Given the description of an element on the screen output the (x, y) to click on. 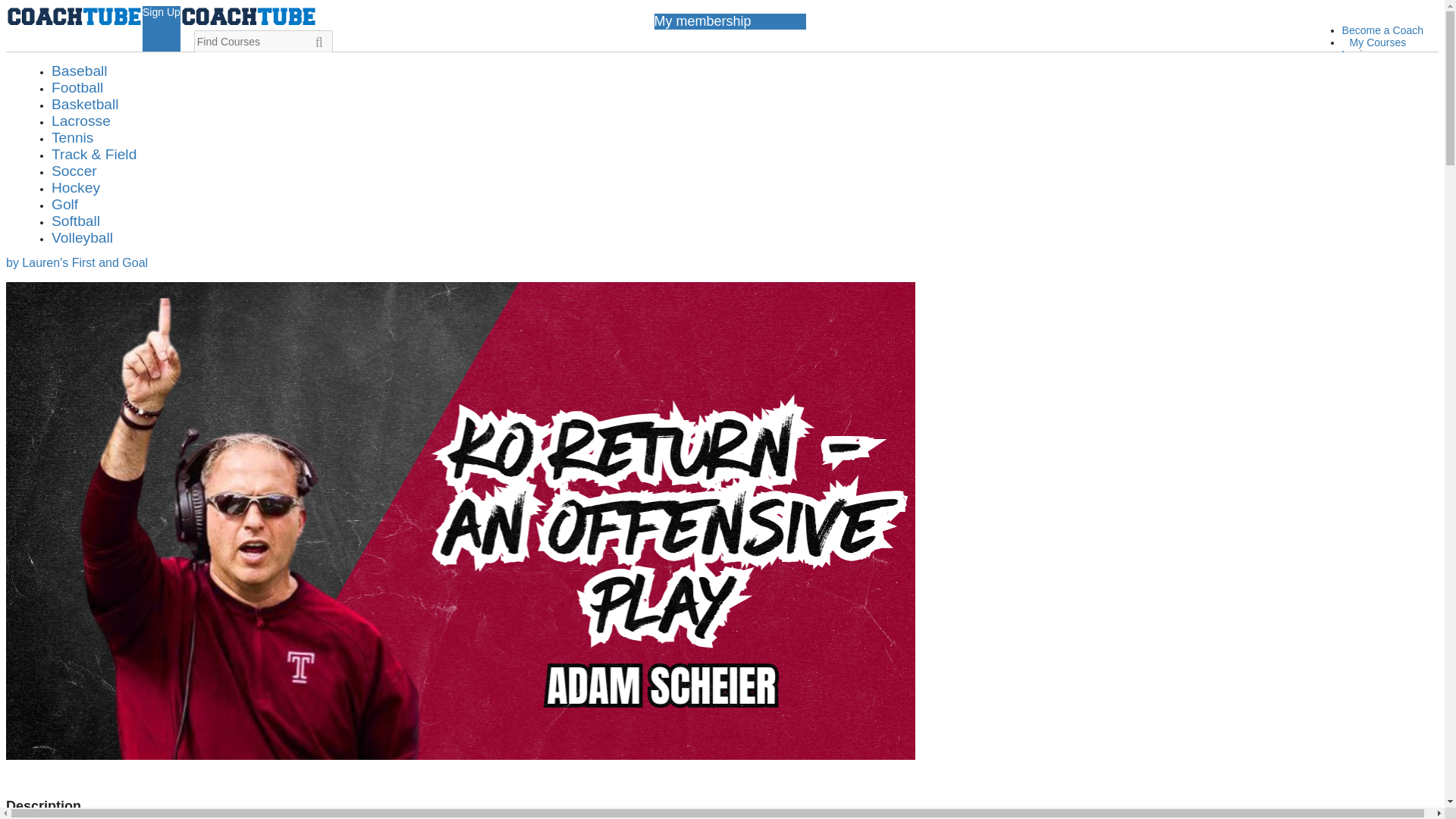
Basketball (84, 104)
Soccer (73, 170)
My Courses (1377, 42)
Hockey (75, 187)
Sign Up (1412, 87)
Login (1420, 70)
JohnLoose (43, 155)
Login (1355, 54)
Tennis (71, 137)
Baseball (78, 70)
Sign Up (1361, 78)
My Courses (1377, 42)
Lacrosse (80, 120)
My membership (1386, 104)
